Given the description of an element on the screen output the (x, y) to click on. 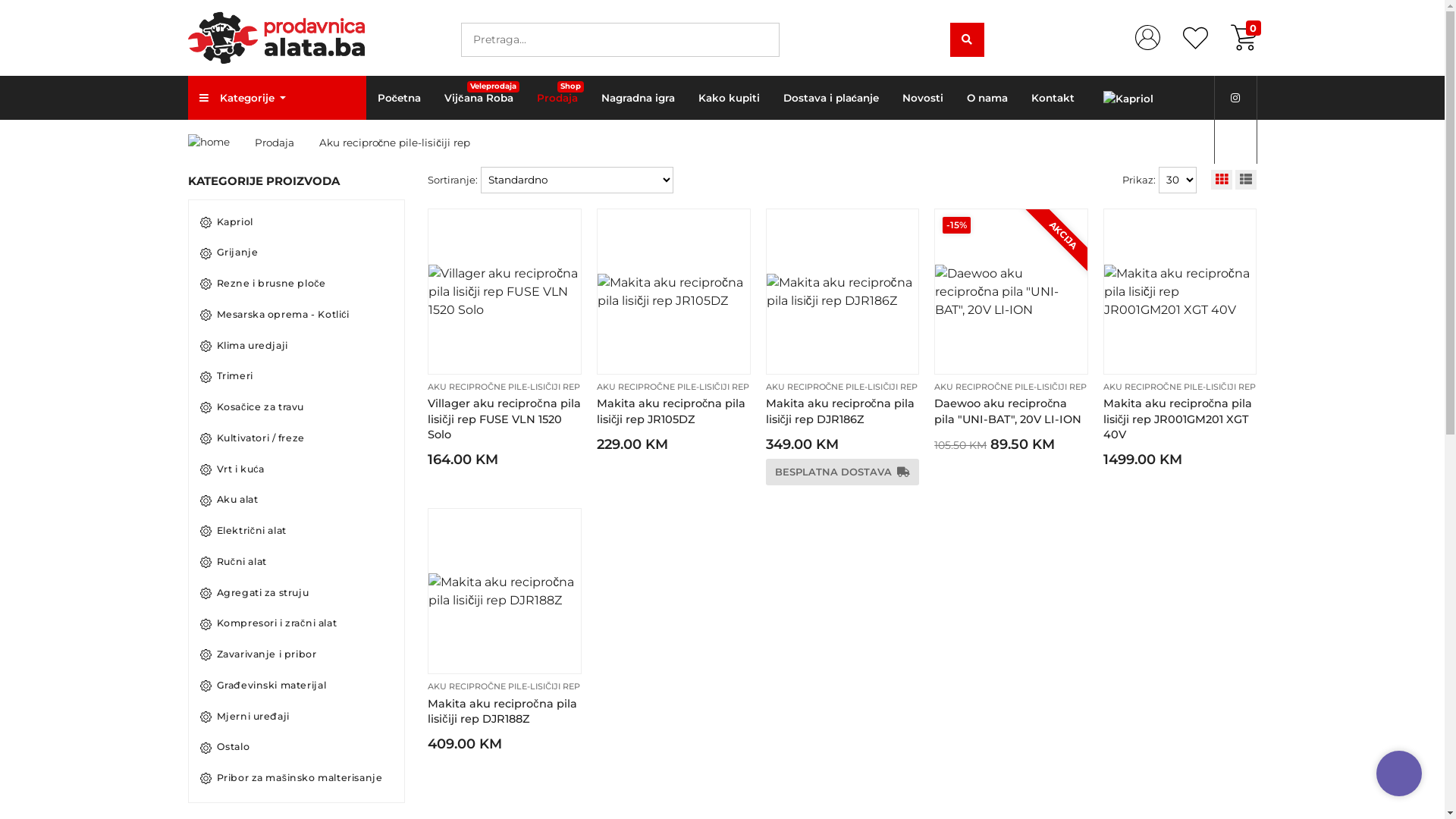
Imate pitanje? Element type: hover (1398, 773)
Kategorije Element type: text (277, 97)
Trimeri Element type: text (302, 376)
0 Element type: text (1243, 37)
Novosti Element type: text (923, 97)
Kako kupiti Element type: text (729, 97)
Prodaja Element type: text (274, 142)
Zavarivanje i pribor Element type: text (302, 655)
Nagradna igra Element type: text (638, 97)
Prodaja
Shop Element type: text (557, 97)
Klima uredjaji Element type: text (302, 346)
O nama Element type: text (987, 97)
Ostalo Element type: text (302, 747)
Aku alat Element type: text (302, 500)
BESPLATNA DOSTAVA Element type: text (842, 472)
Grijanje Element type: text (302, 253)
-15%
AKCIJA Element type: text (1011, 291)
Agregati za struju Element type: text (302, 593)
Kontakt Element type: text (1052, 97)
Kultivatori / freze Element type: text (302, 439)
Kapriol Element type: text (302, 222)
